Given the description of an element on the screen output the (x, y) to click on. 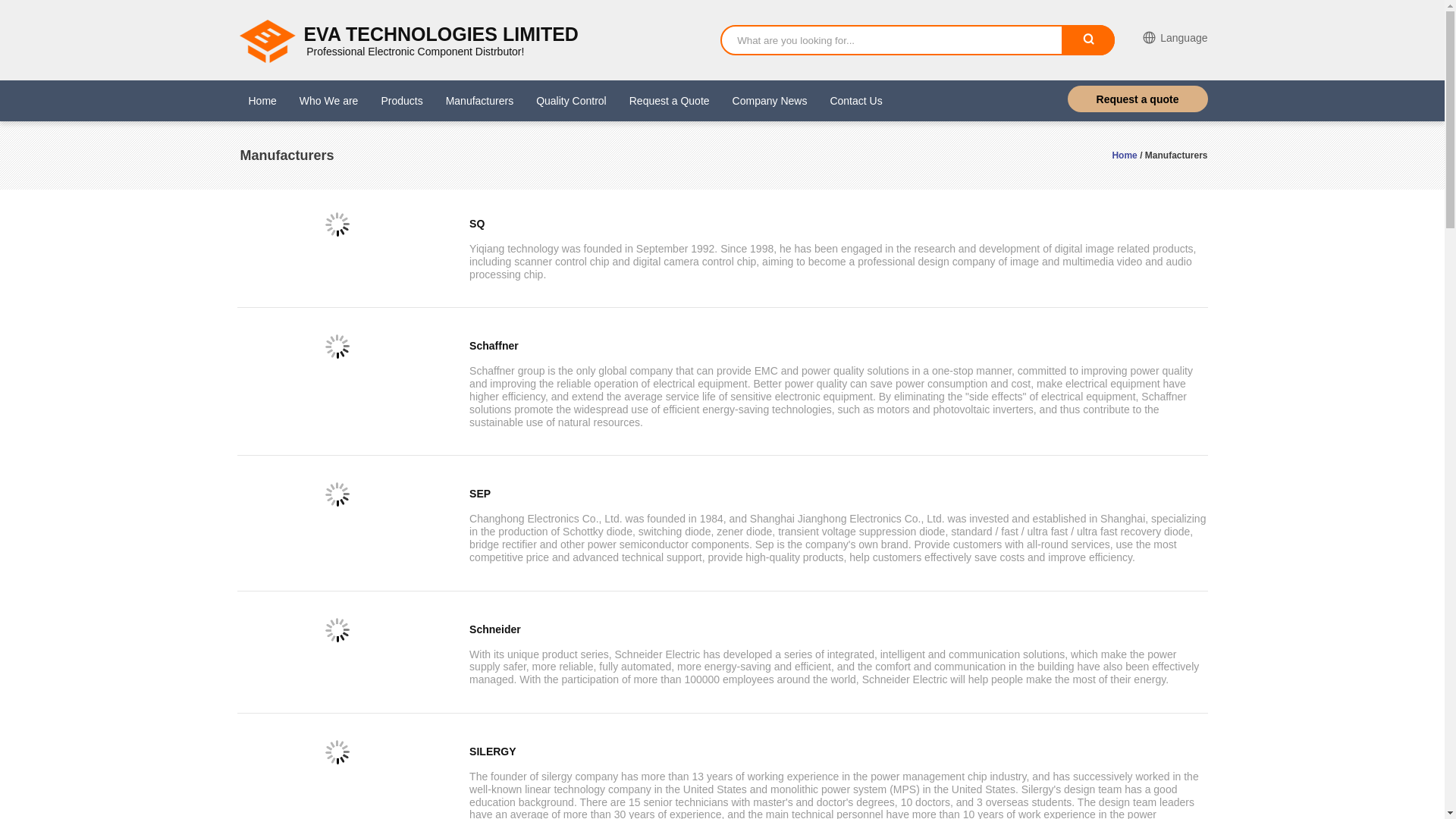
Home (262, 101)
Request a quote (1137, 98)
Who We are (328, 101)
Quality Control (571, 101)
Manufacturers (479, 101)
Company News (770, 101)
Request a Quote (669, 101)
Home (1124, 154)
Contact Us (855, 101)
Products (401, 101)
